Given the description of an element on the screen output the (x, y) to click on. 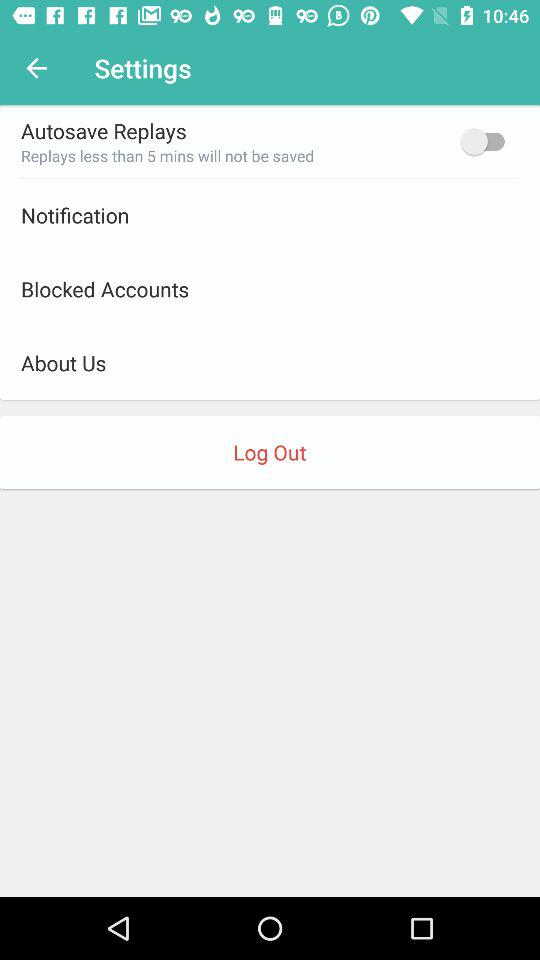
choose icon to the right of the replays less than icon (487, 141)
